Given the description of an element on the screen output the (x, y) to click on. 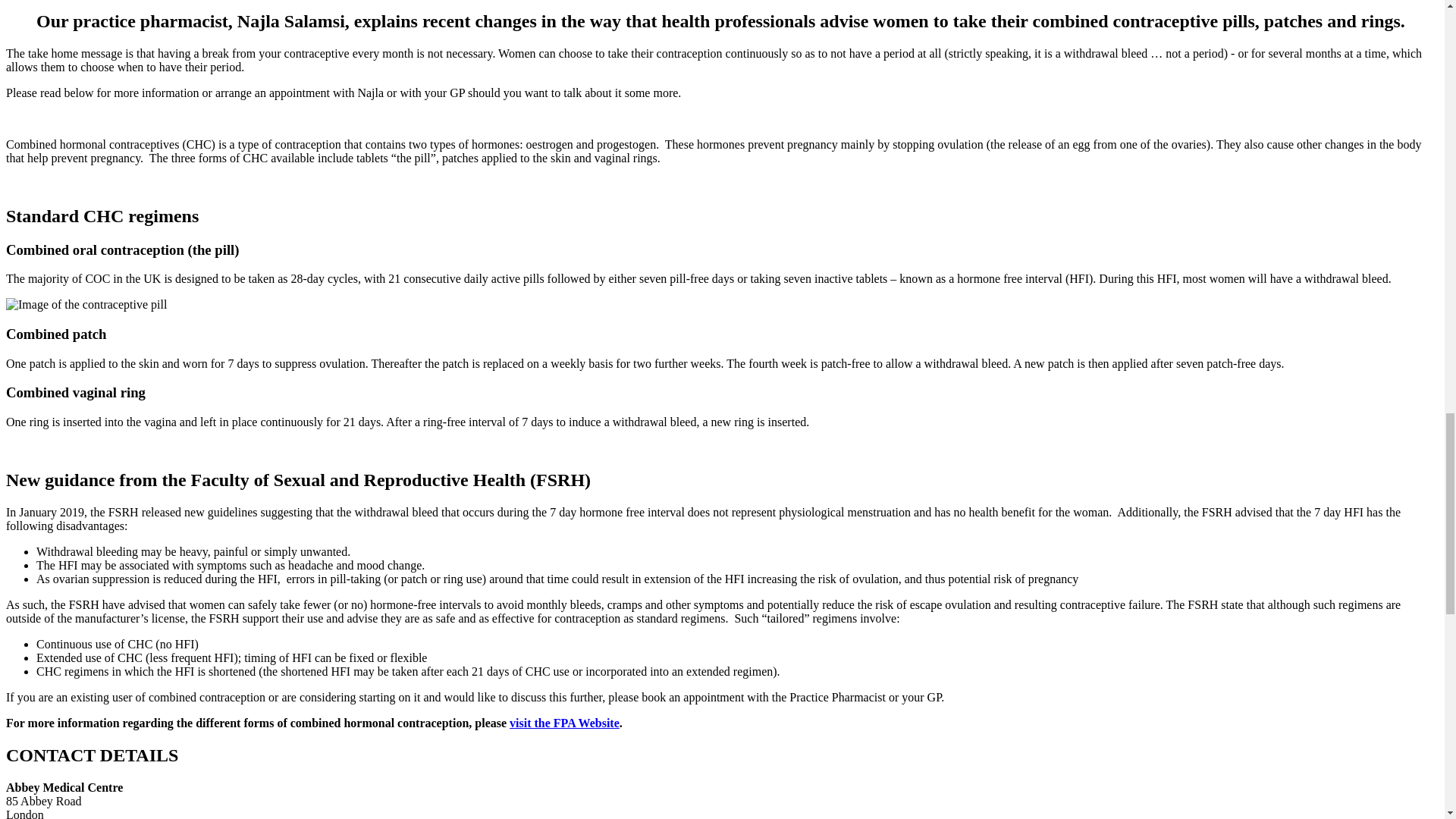
visit the FPA Website (564, 722)
